Given the description of an element on the screen output the (x, y) to click on. 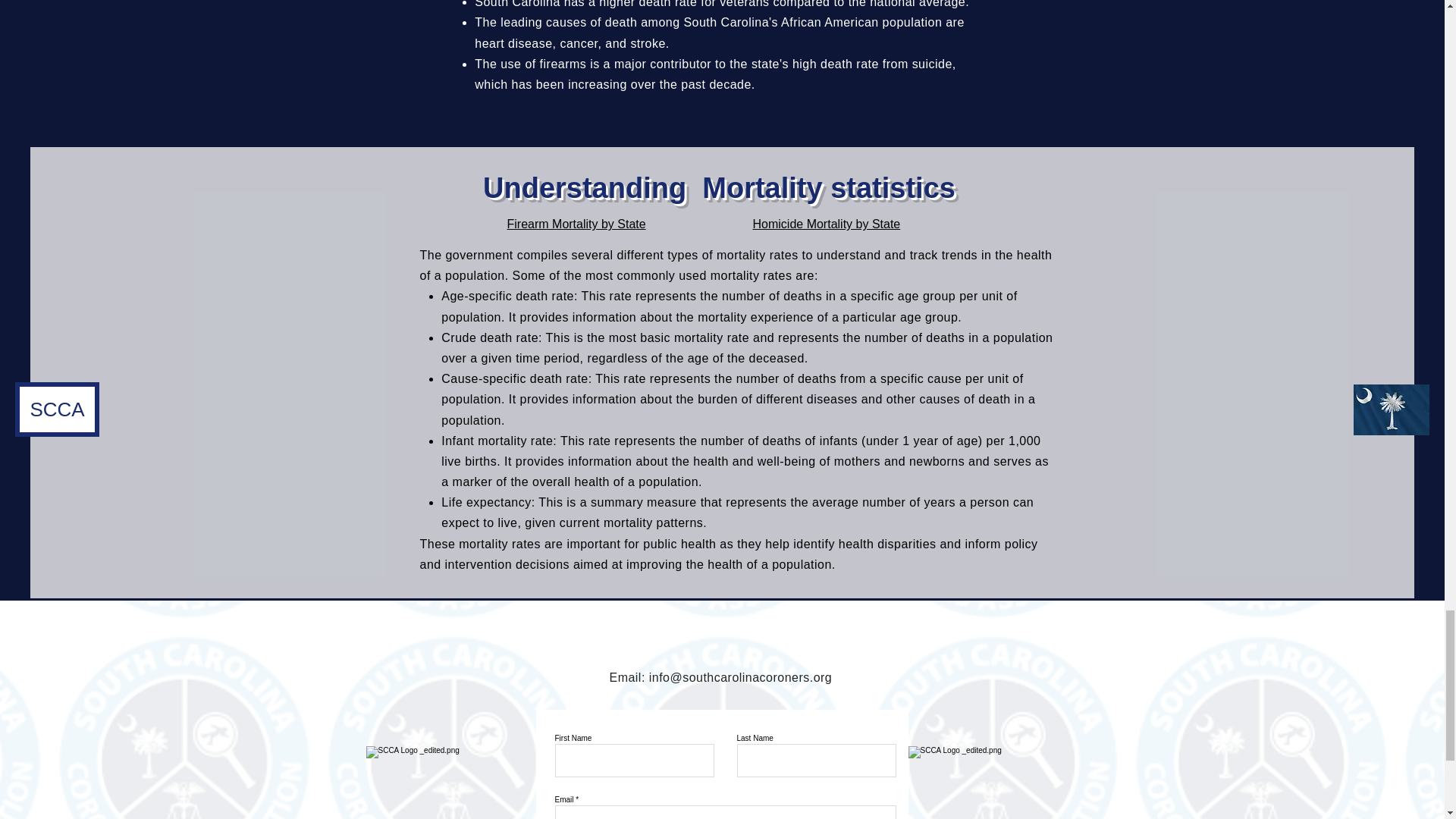
Firearm Mortality by State (575, 223)
Homicide Mortality by State (825, 223)
